Given the description of an element on the screen output the (x, y) to click on. 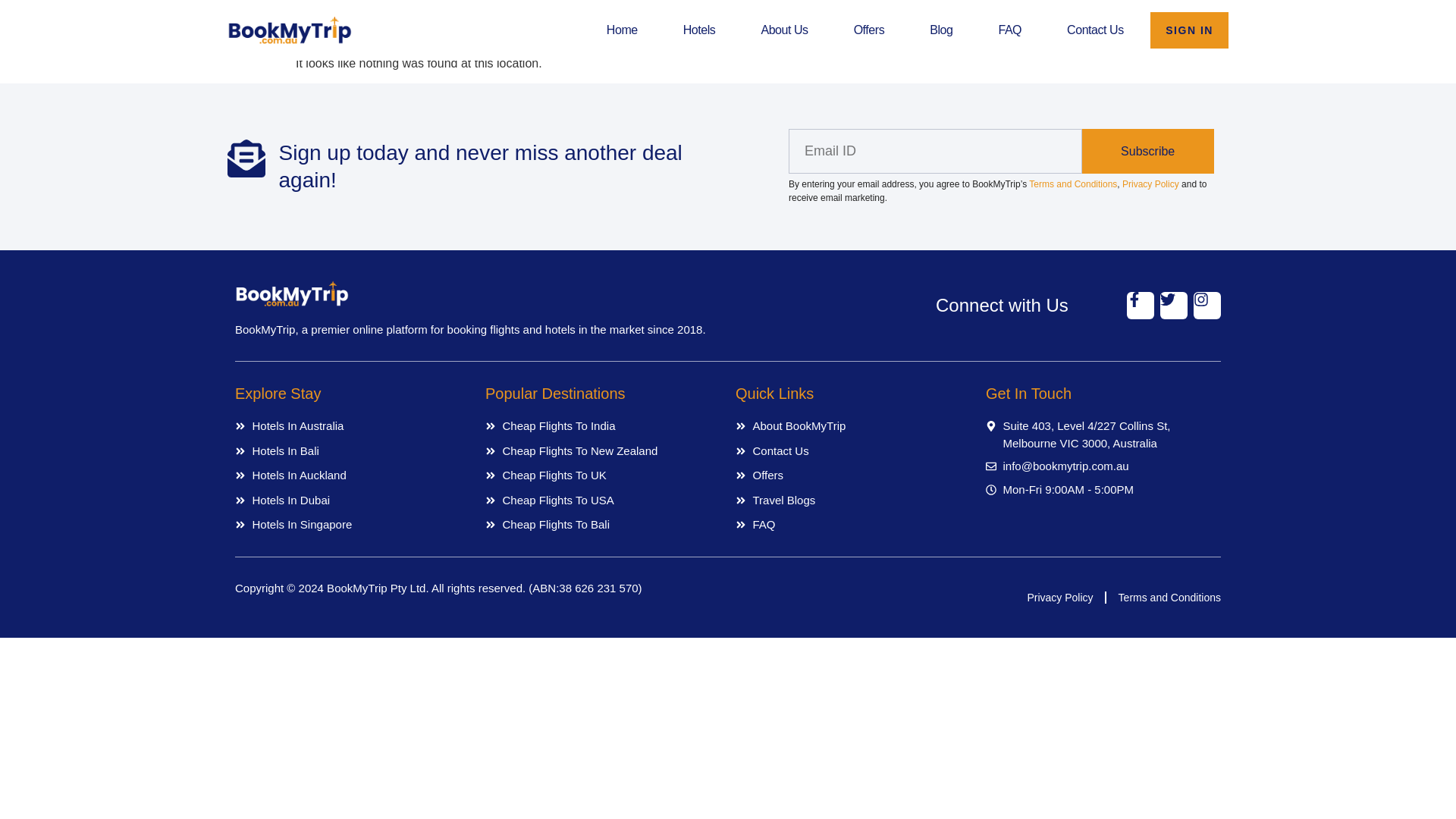
Hotels In Singapore (352, 524)
Cheap Flights To UK (602, 475)
FAQ (1009, 30)
FAQ (853, 524)
About BookMyTrip (853, 425)
Hotels In Dubai (352, 500)
Contact Us (853, 451)
About Us (783, 30)
Cheap Flights To USA (602, 500)
Hotels In Bali (352, 451)
Offers (868, 30)
Privacy Policy (1059, 597)
Cheap Flights To Bali (602, 524)
Home (621, 30)
Hotels (699, 30)
